Given the description of an element on the screen output the (x, y) to click on. 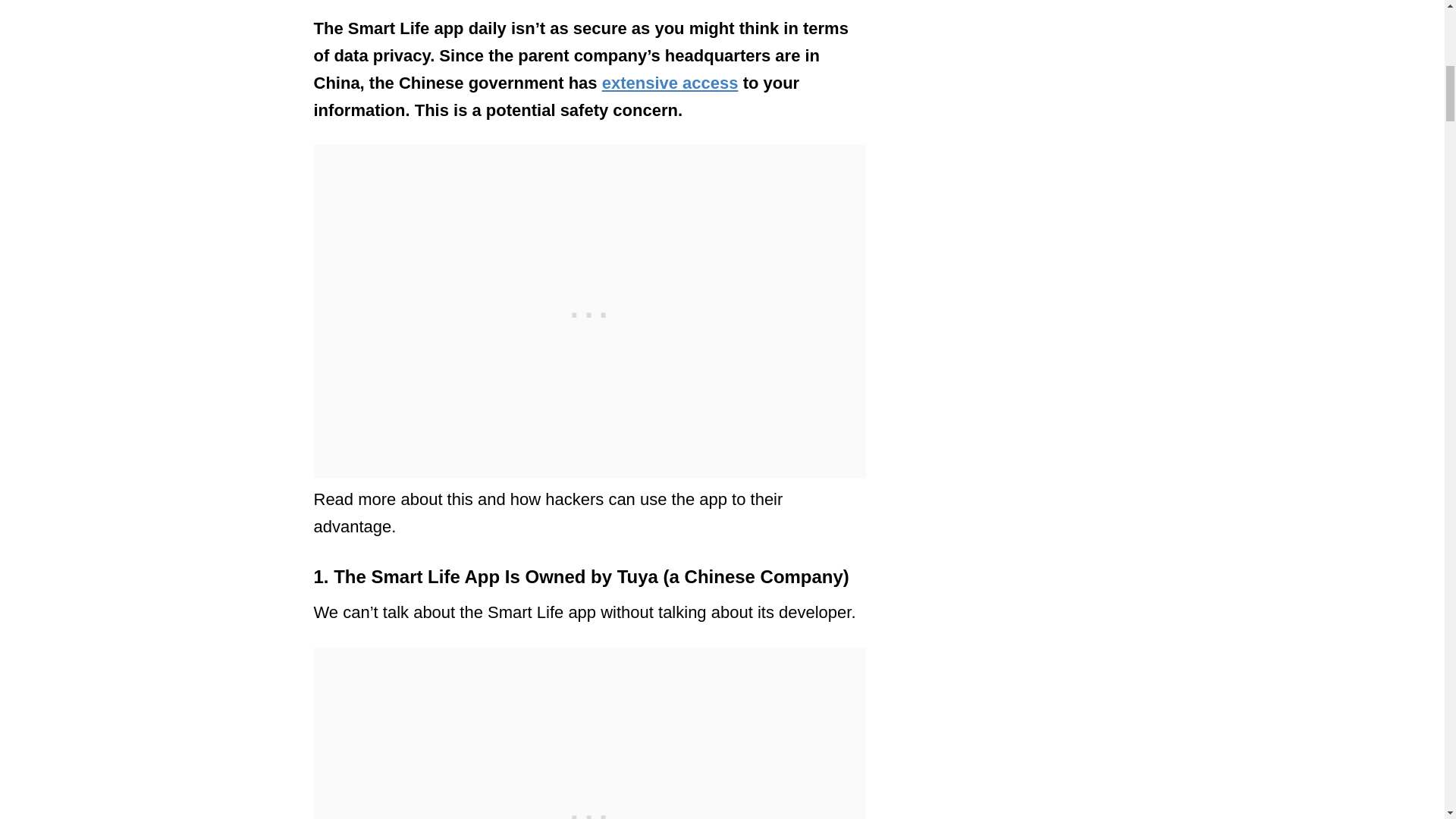
extensive access (670, 82)
